Given the description of an element on the screen output the (x, y) to click on. 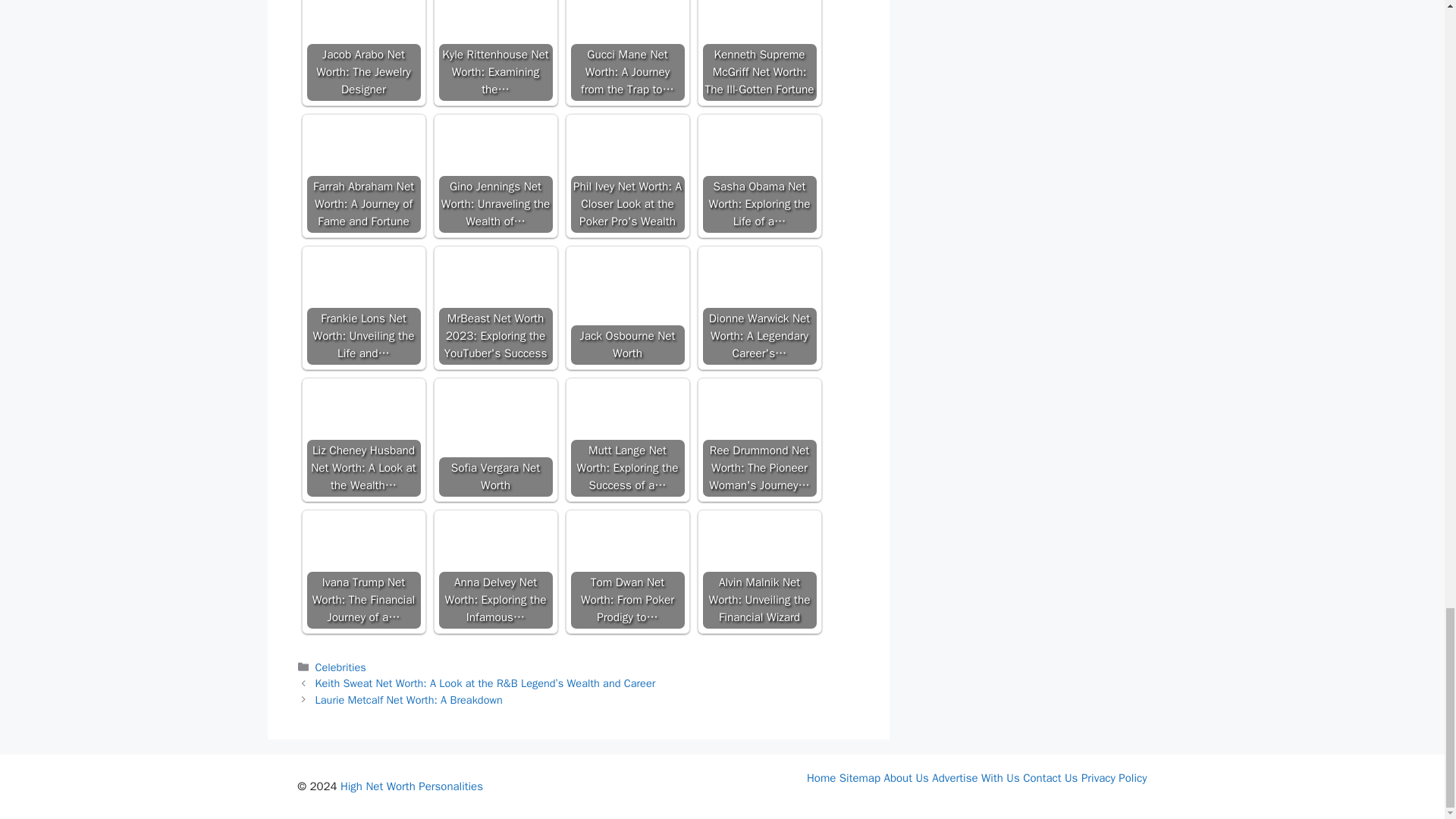
Kenneth Supreme McGriff Net Worth: The Ill-Gotten Fortune (758, 50)
Farrah Abraham Net Worth: A Journey of Fame and Fortune (362, 147)
Jack Osbourne Net Worth (627, 293)
Jacob Arabo Net Worth: The Jewelry Designer (362, 50)
Phil Ivey Net Worth: A Closer Look at the Poker Pro's Wealth (627, 147)
MrBeast Net Worth 2023: Exploring the YouTuber's Success (494, 307)
